Given the description of an element on the screen output the (x, y) to click on. 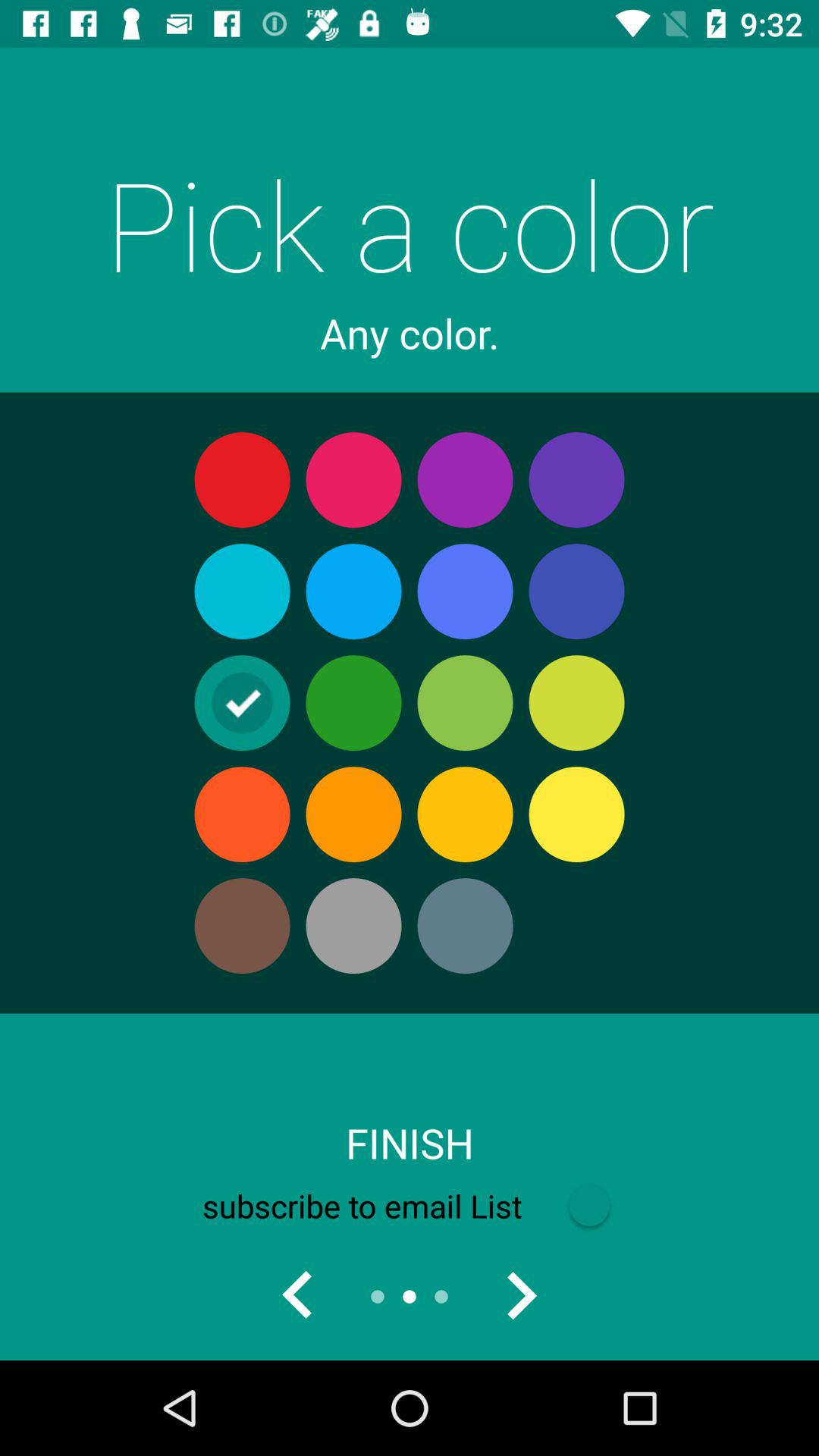
click item below the subscribe to email (520, 1296)
